Given the description of an element on the screen output the (x, y) to click on. 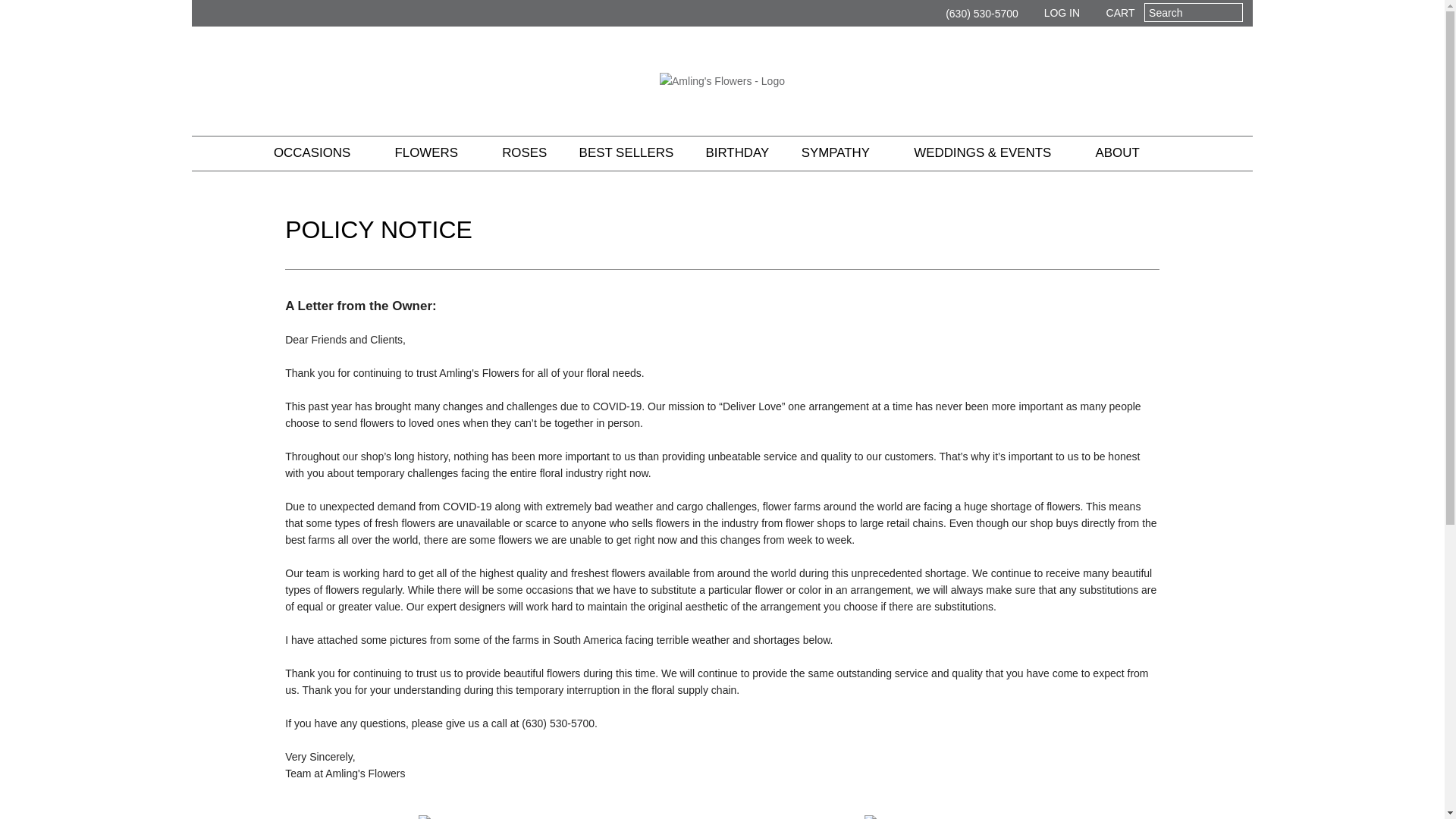
log In (1053, 13)
FLOWERS (432, 153)
BEST SELLERS (625, 153)
OCCASIONS (317, 153)
ROSES (524, 153)
BIRTHDAY (737, 153)
LOG IN (1053, 13)
Search (1191, 12)
CART (1111, 13)
